Given the description of an element on the screen output the (x, y) to click on. 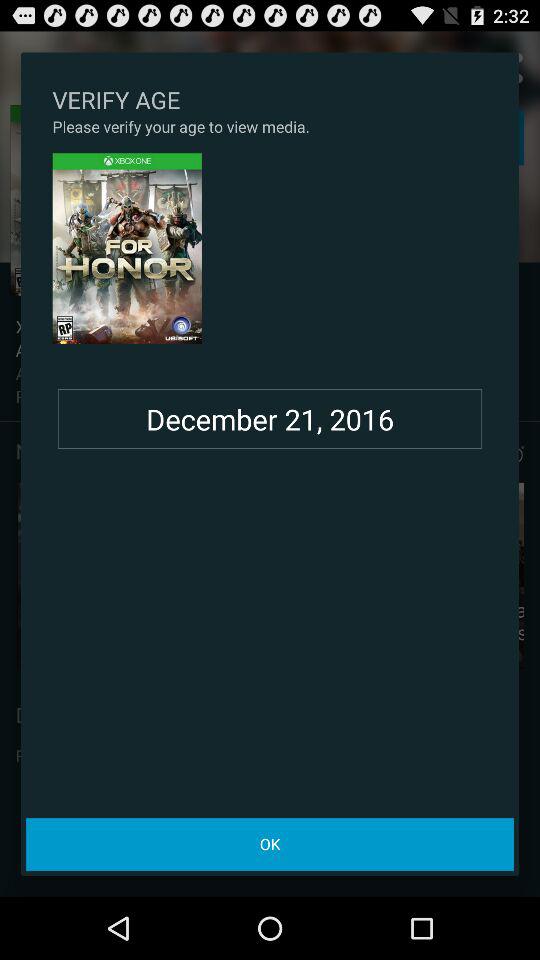
select the december 21, 2016 item (269, 419)
